Given the description of an element on the screen output the (x, y) to click on. 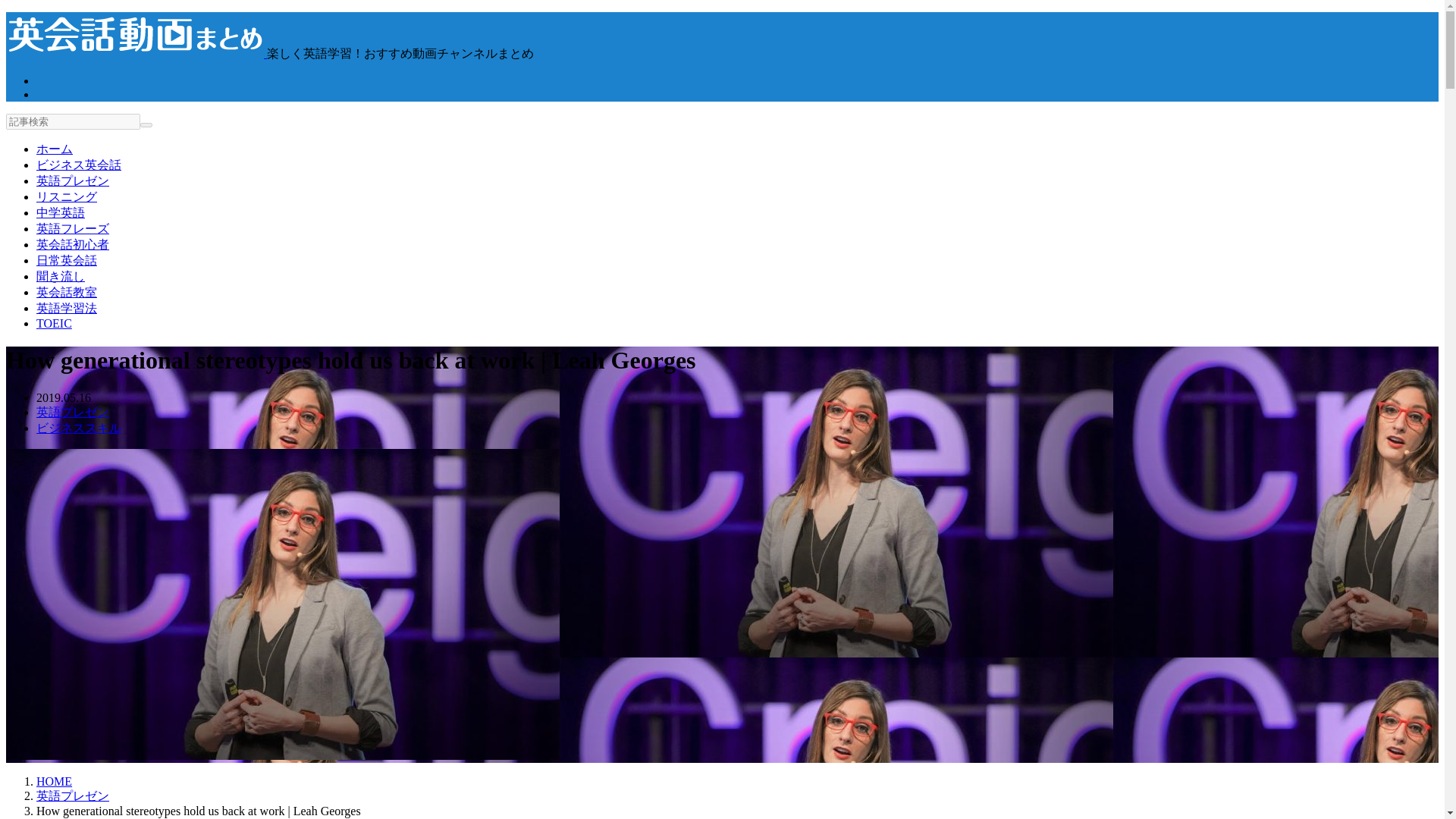
search (145, 124)
HOME (53, 780)
TOEIC (53, 323)
